Given the description of an element on the screen output the (x, y) to click on. 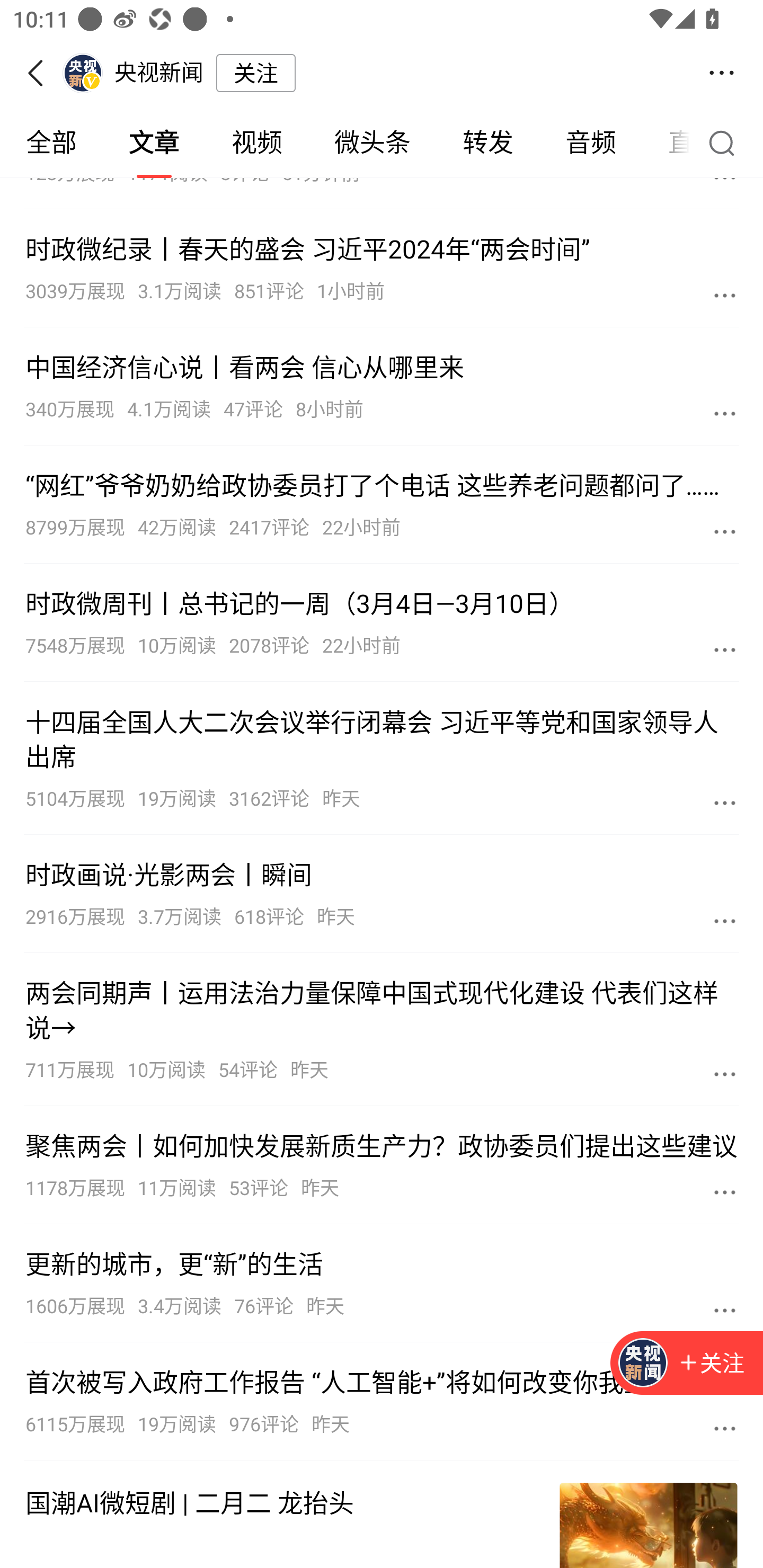
返回 (41, 72)
更多操作 (721, 72)
关注 (255, 72)
全部 (51, 143)
文章 (154, 143)
视频 (256, 143)
微头条 (372, 143)
转发 (487, 143)
音频 (590, 143)
搜索 (726, 142)
更多 (724, 294)
更多 (724, 412)
更多 (724, 531)
更多 (724, 648)
更多 (724, 802)
更多 (724, 919)
更多 (724, 1073)
更多 (724, 1191)
更多 (724, 1309)
    关注 (686, 1363)
    关注 (711, 1363)
更多 (724, 1427)
